Given the description of an element on the screen output the (x, y) to click on. 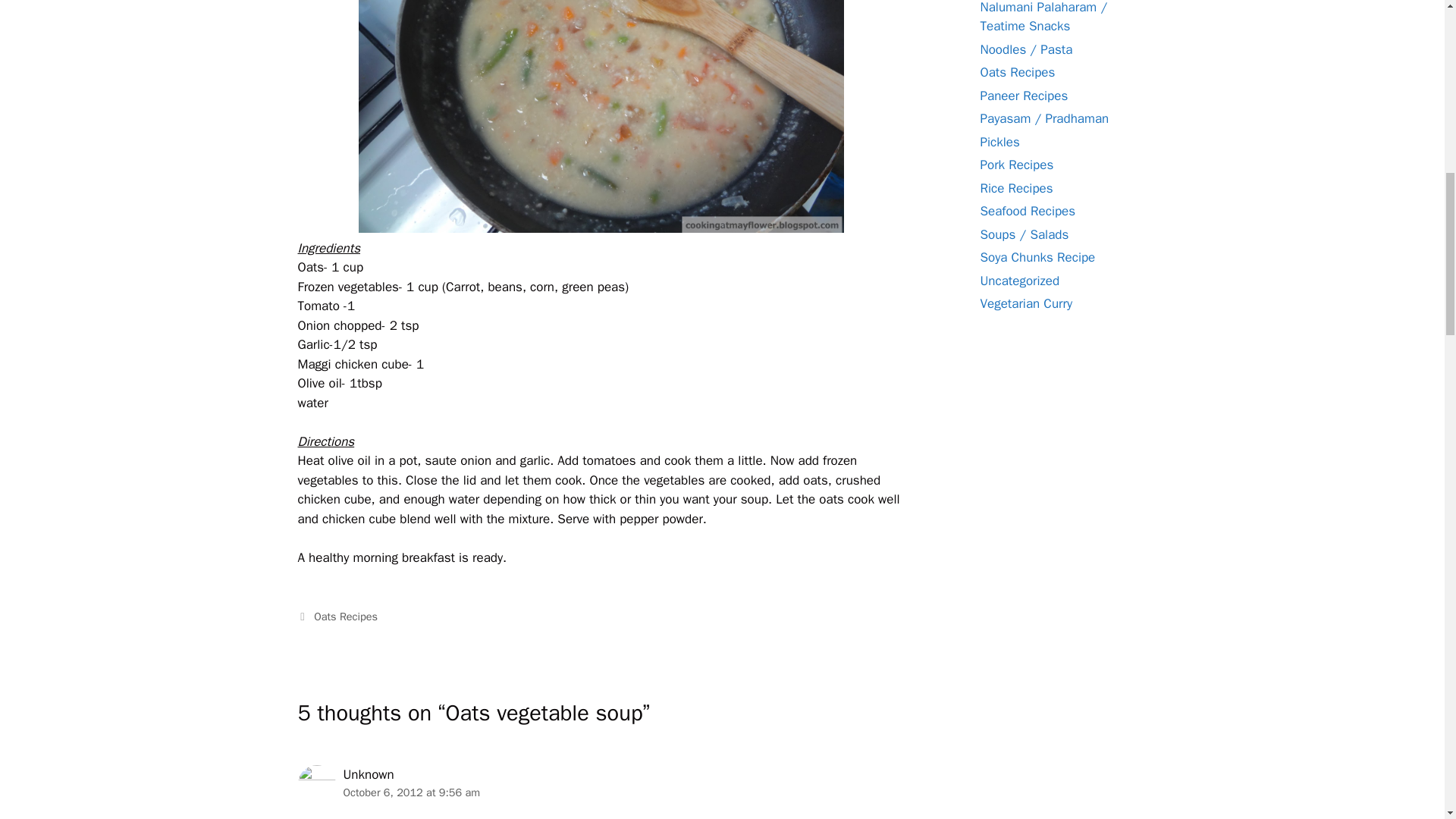
Scroll back to top (1406, 720)
Oats Recipes (345, 616)
October 6, 2012 at 9:56 am (411, 792)
